Given the description of an element on the screen output the (x, y) to click on. 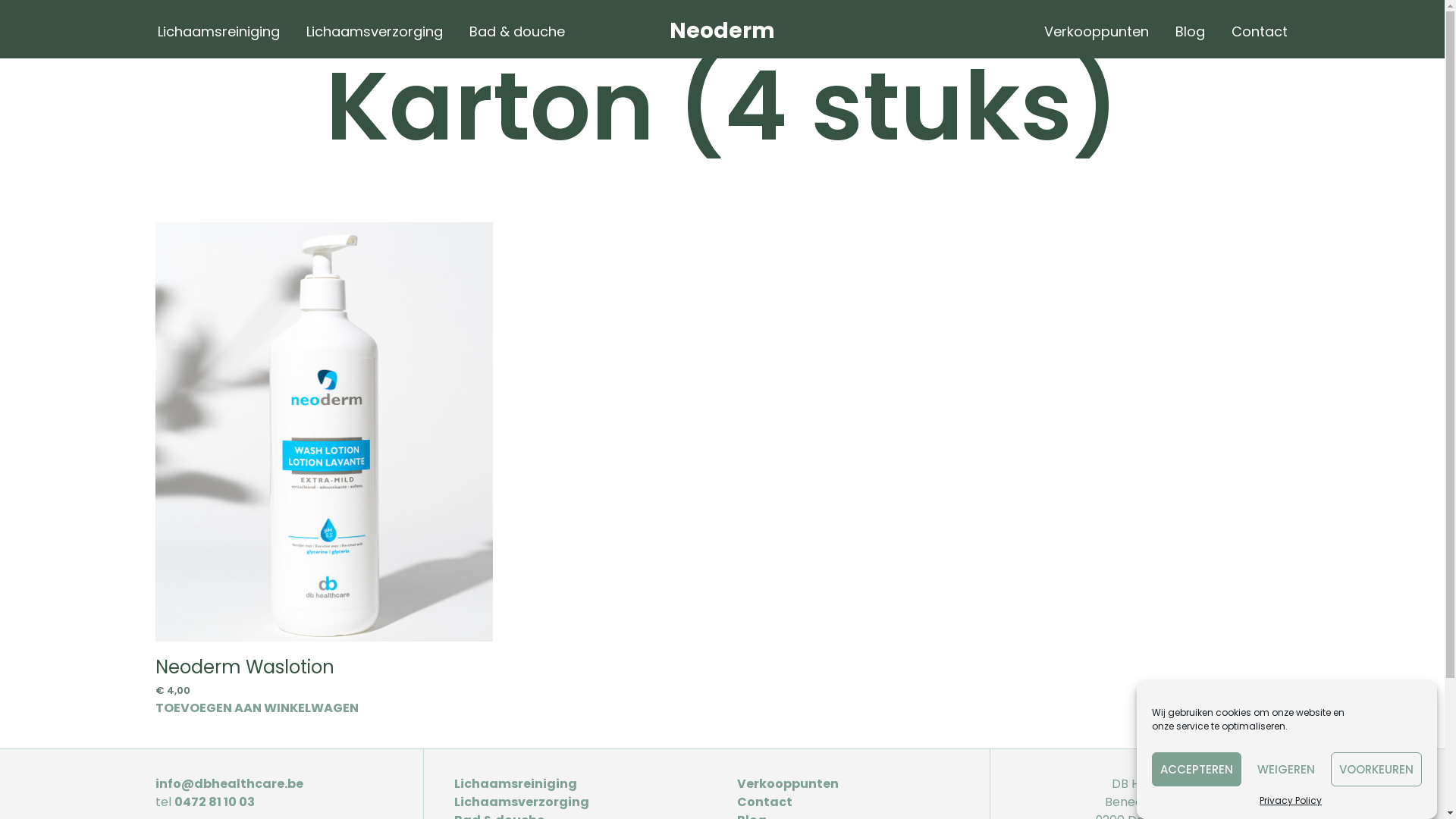
Contact Element type: text (1258, 31)
Lichaamsverzorging Element type: text (373, 31)
Lichaamsreiniging Element type: text (217, 31)
Verkooppunten Element type: text (787, 783)
Lichaamsverzorging Element type: text (521, 801)
WEIGEREN Element type: text (1285, 769)
Neoderm Waslotion Element type: text (244, 667)
Contact Element type: text (764, 801)
Privacy Policy Element type: text (1290, 800)
TOEVOEGEN AAN WINKELWAGEN Element type: text (256, 706)
0472 81 10 03 Element type: text (214, 801)
Bad & douche Element type: text (517, 31)
Verkooppunten Element type: text (1096, 31)
Lichaamsreiniging Element type: text (515, 783)
Neoderm Element type: text (722, 30)
VOORKEUREN Element type: text (1375, 769)
info@dbhealthcare.be Element type: text (229, 783)
ACCEPTEREN Element type: text (1196, 769)
Blog Element type: text (1189, 31)
